Given the description of an element on the screen output the (x, y) to click on. 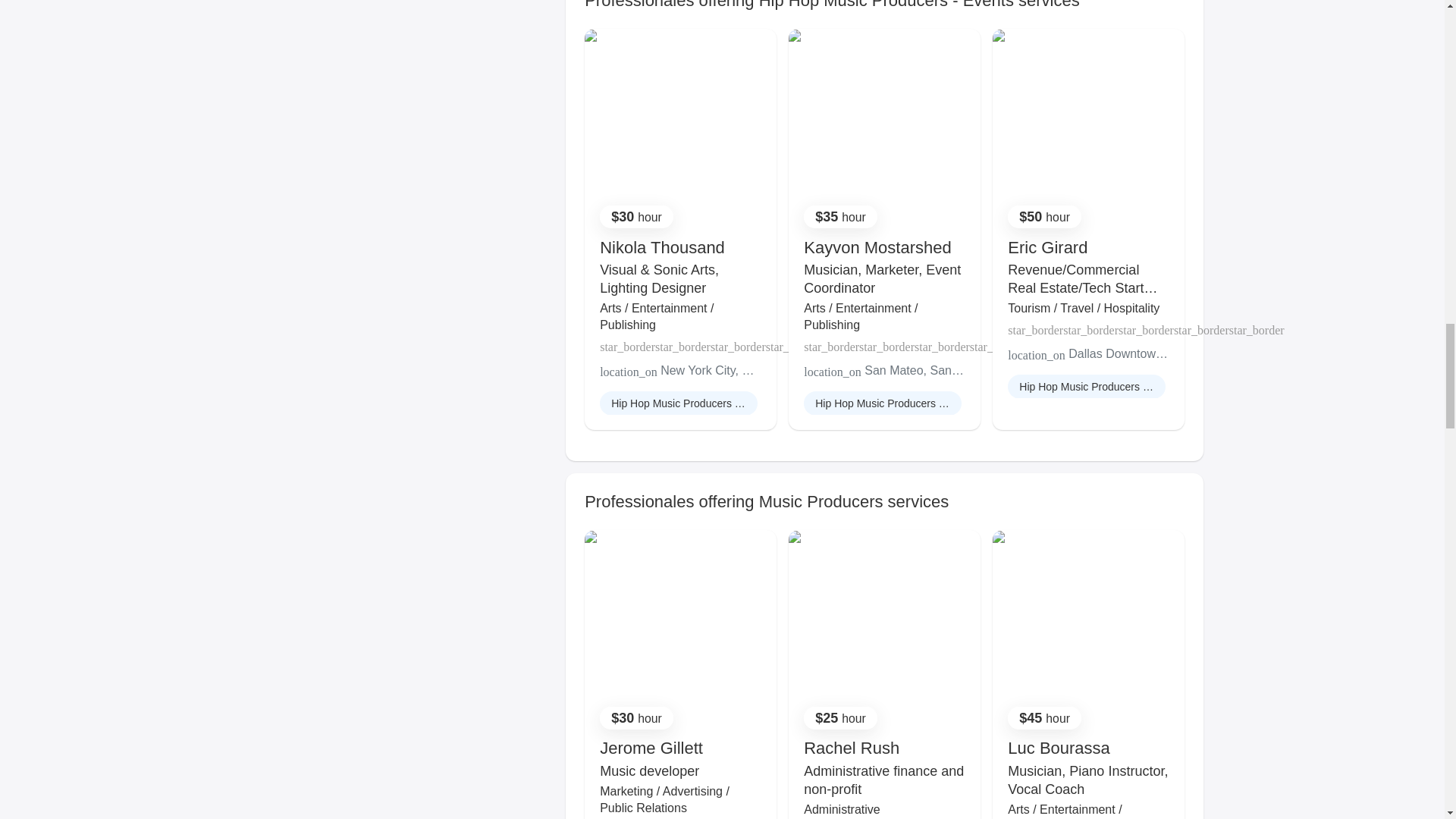
Rachel Rush (851, 747)
Rachel Rush (851, 747)
Kayvon Mostarshed (876, 247)
Nikola Thousand (662, 247)
Luc Bourassa (1058, 747)
Nikola Thousand (662, 247)
Eric Girard (1047, 247)
Jerome Gillett (651, 747)
Luc Bourassa (1058, 747)
Kayvon Mostarshed (876, 247)
Jerome Gillett (651, 747)
Eric Girard (1047, 247)
